Given the description of an element on the screen output the (x, y) to click on. 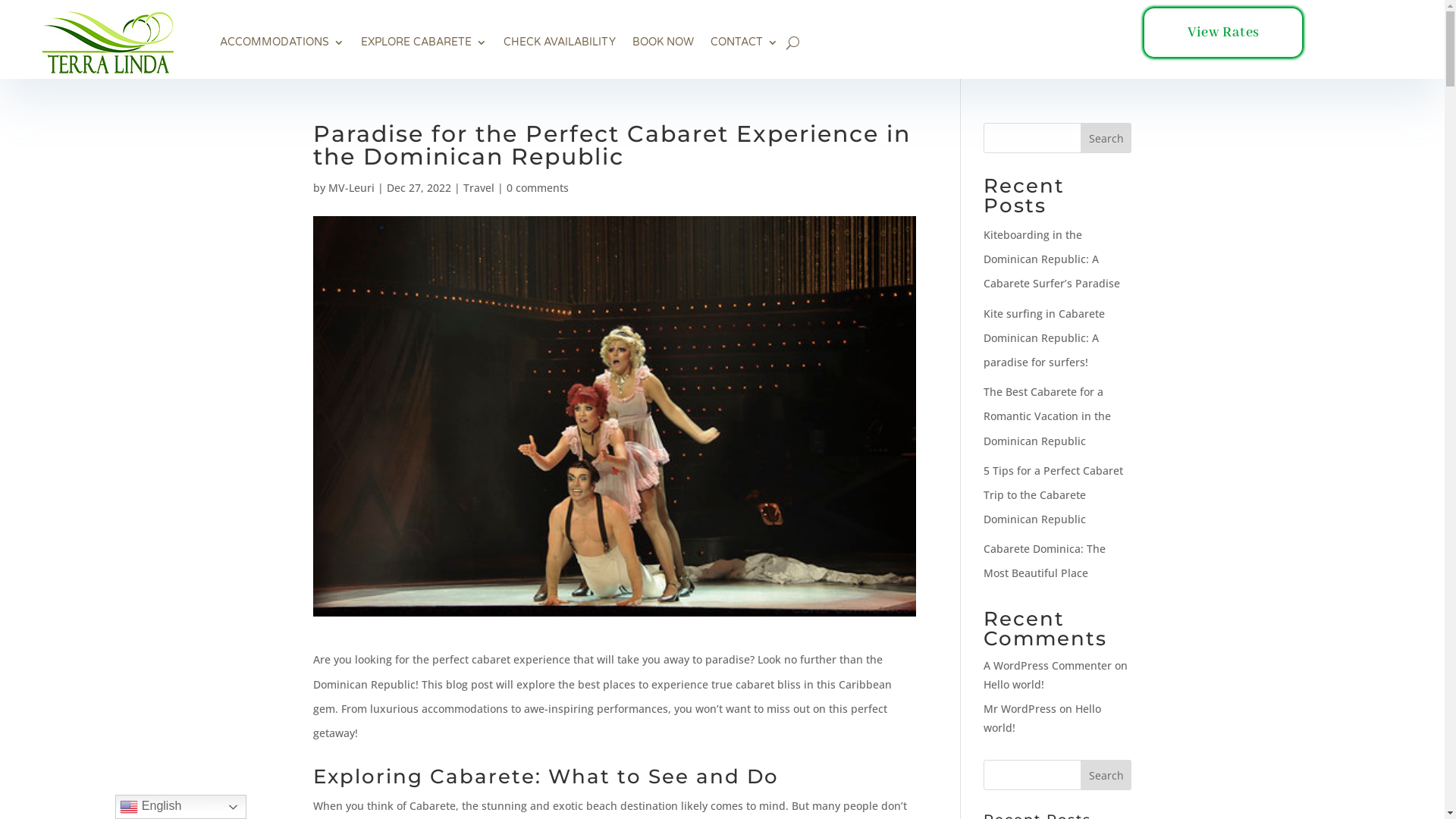
BOOK NOW Element type: text (662, 42)
MV-Leuri Element type: text (350, 187)
CHECK AVAILABILITY Element type: text (559, 42)
Search Element type: text (1106, 137)
Travel Element type: text (477, 187)
A WordPress Commenter Element type: text (1047, 665)
CONTACT Element type: text (744, 42)
0 comments Element type: text (537, 187)
Cabarete Dominica: The Most Beautiful Place Element type: text (1044, 560)
View Rates Element type: text (1222, 32)
EXPLORE CABARETE Element type: text (423, 42)
Mr WordPress Element type: text (1019, 708)
Hello world! Element type: text (1013, 684)
Search Element type: text (1106, 774)
ACCOMMODATIONS Element type: text (281, 42)
Hello world! Element type: text (1042, 717)
